Given the description of an element on the screen output the (x, y) to click on. 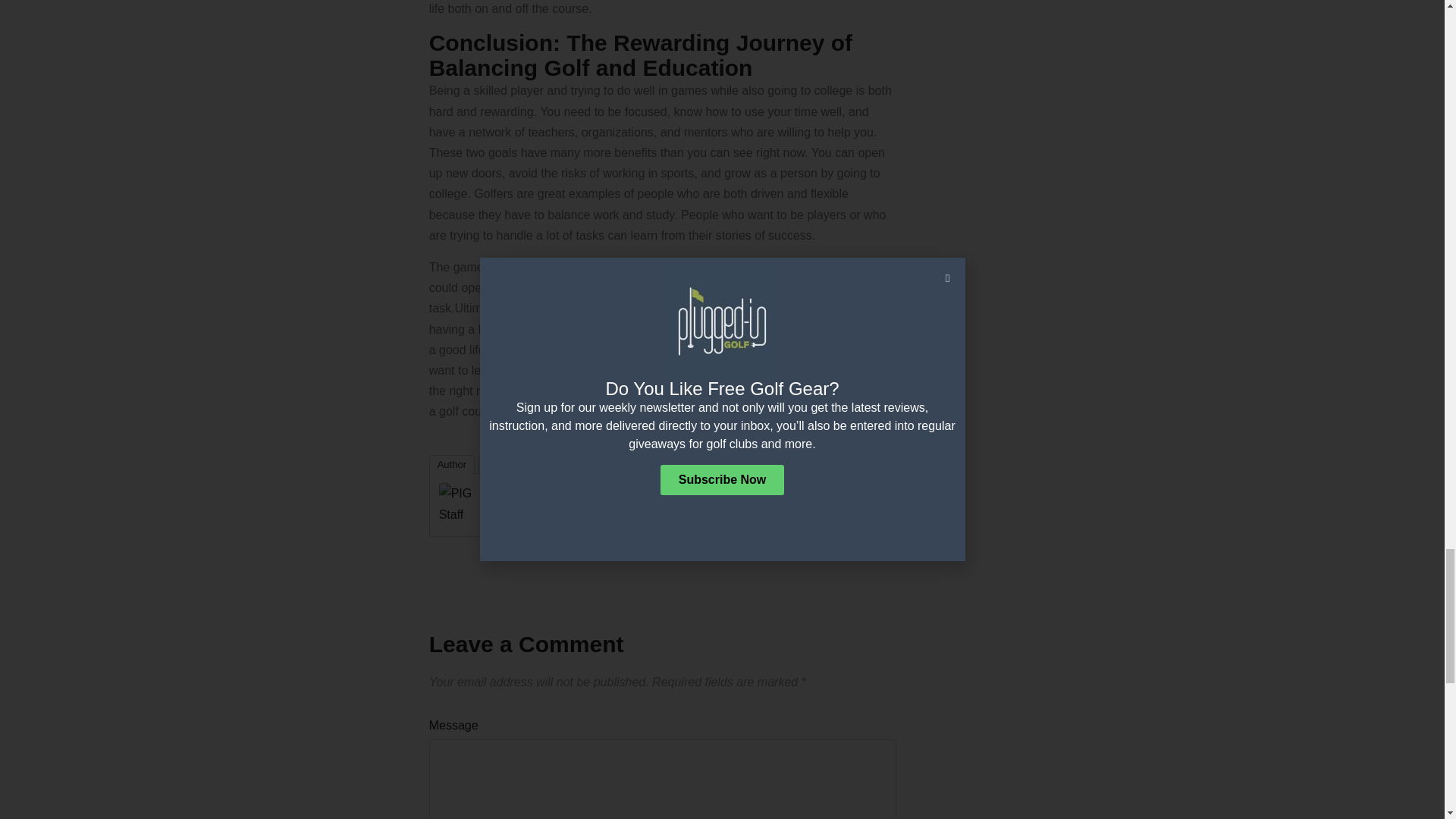
PIG Staff (469, 502)
